Given the description of an element on the screen output the (x, y) to click on. 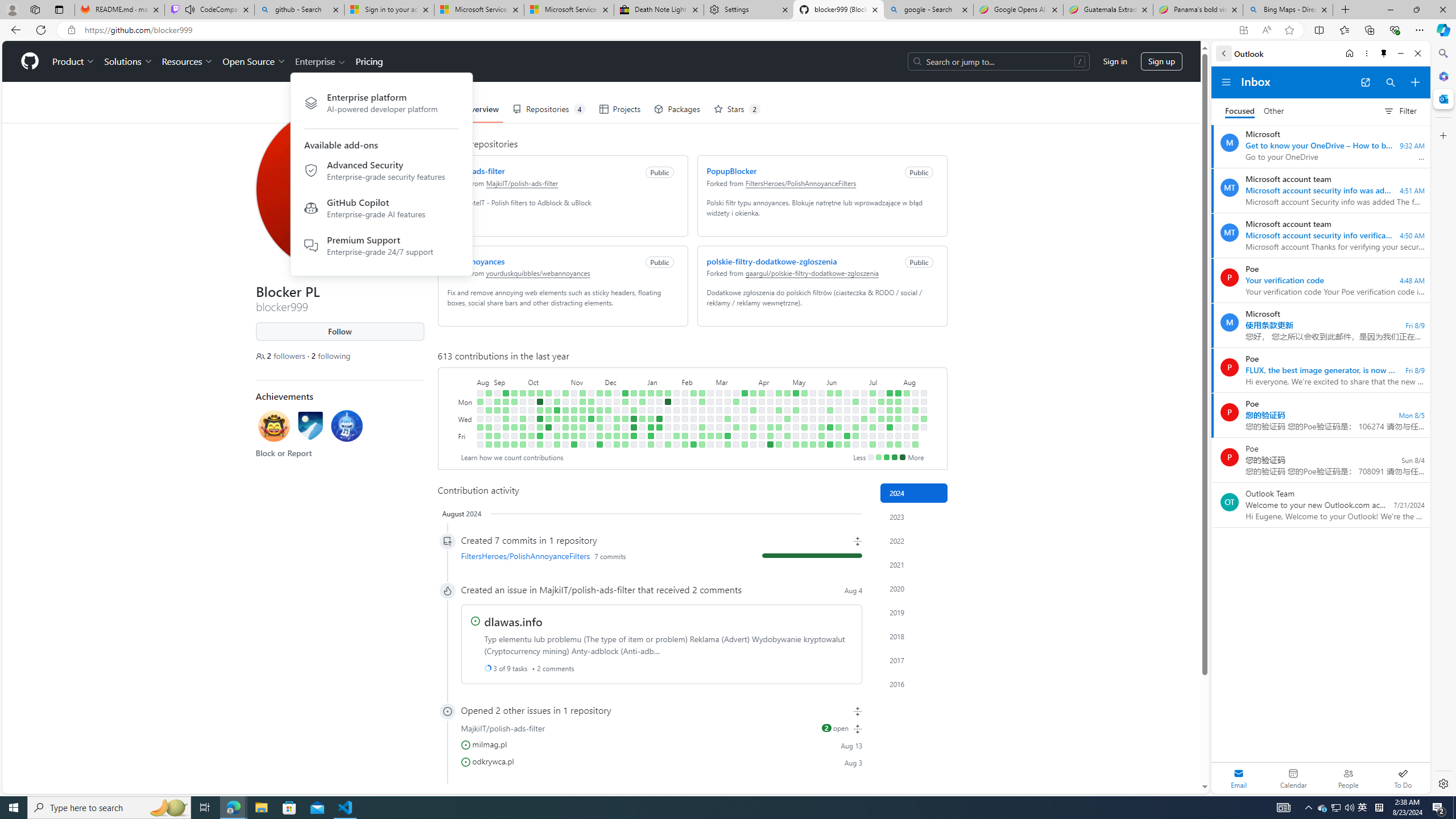
No contributions on May 4th. (786, 444)
No contributions on April 26th. (777, 435)
No contributions on February 7th. (684, 418)
No contributions on August 12th. (914, 401)
2 contributions on July 22nd. (889, 401)
No contributions on February 20th. (701, 410)
No contributions on September 6th. (496, 418)
Achievement: Quickdraw (273, 427)
PopupBlocker (731, 170)
6 contributions on October 24th. (556, 410)
No contributions on September 20th. (513, 418)
3 contributions on August 13th. (914, 410)
No contributions on June 25th. (855, 410)
No contributions on July 18th. (880, 427)
No contributions on May 13th. (804, 401)
